Given the description of an element on the screen output the (x, y) to click on. 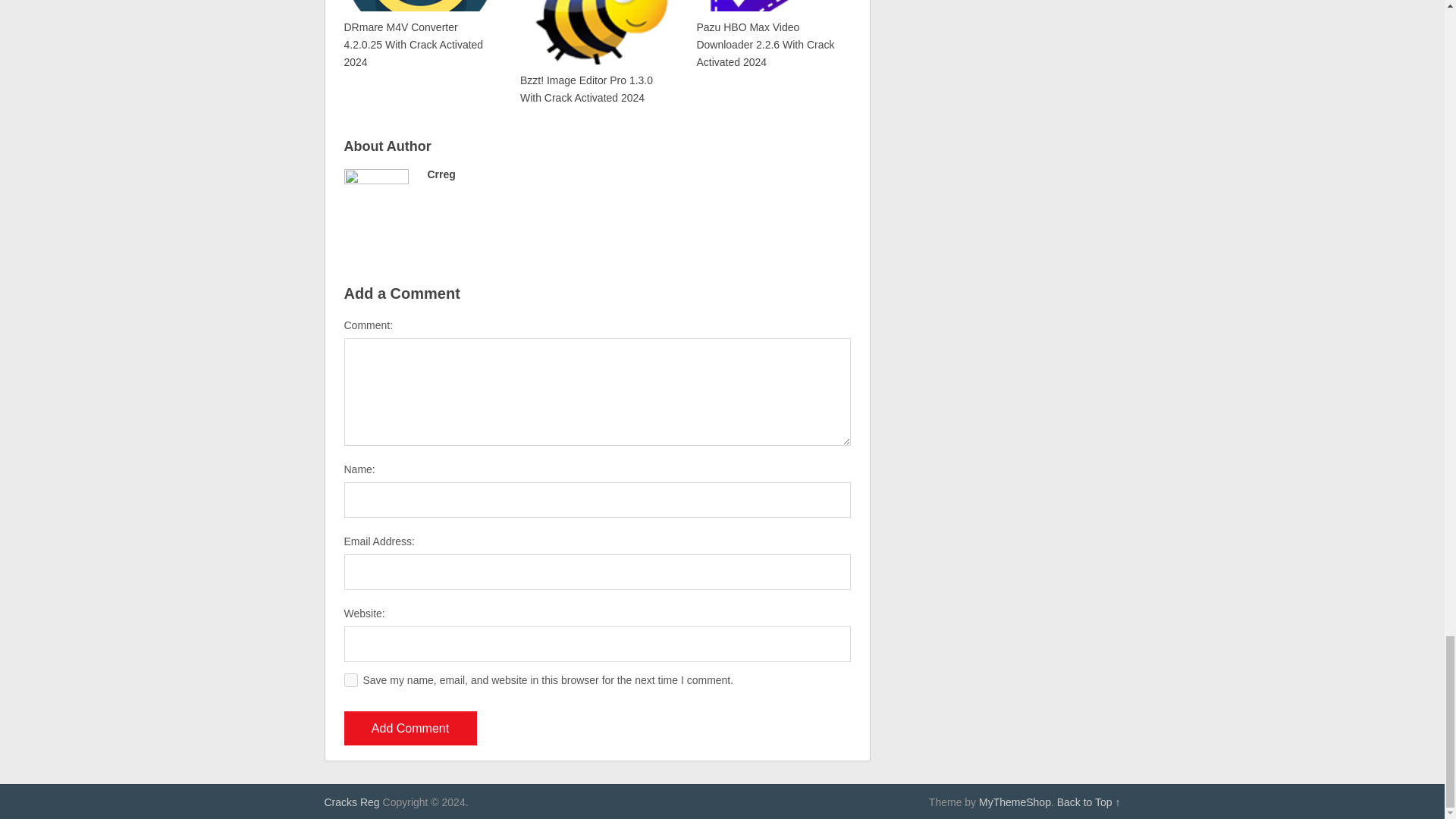
Add Comment (410, 728)
yes (350, 680)
Bzzt! Image Editor Pro 1.3.0 With Crack Activated 2024 (595, 53)
DRmare M4V Converter 4.2.0.25 With Crack Activated 2024 (419, 35)
